Given the description of an element on the screen output the (x, y) to click on. 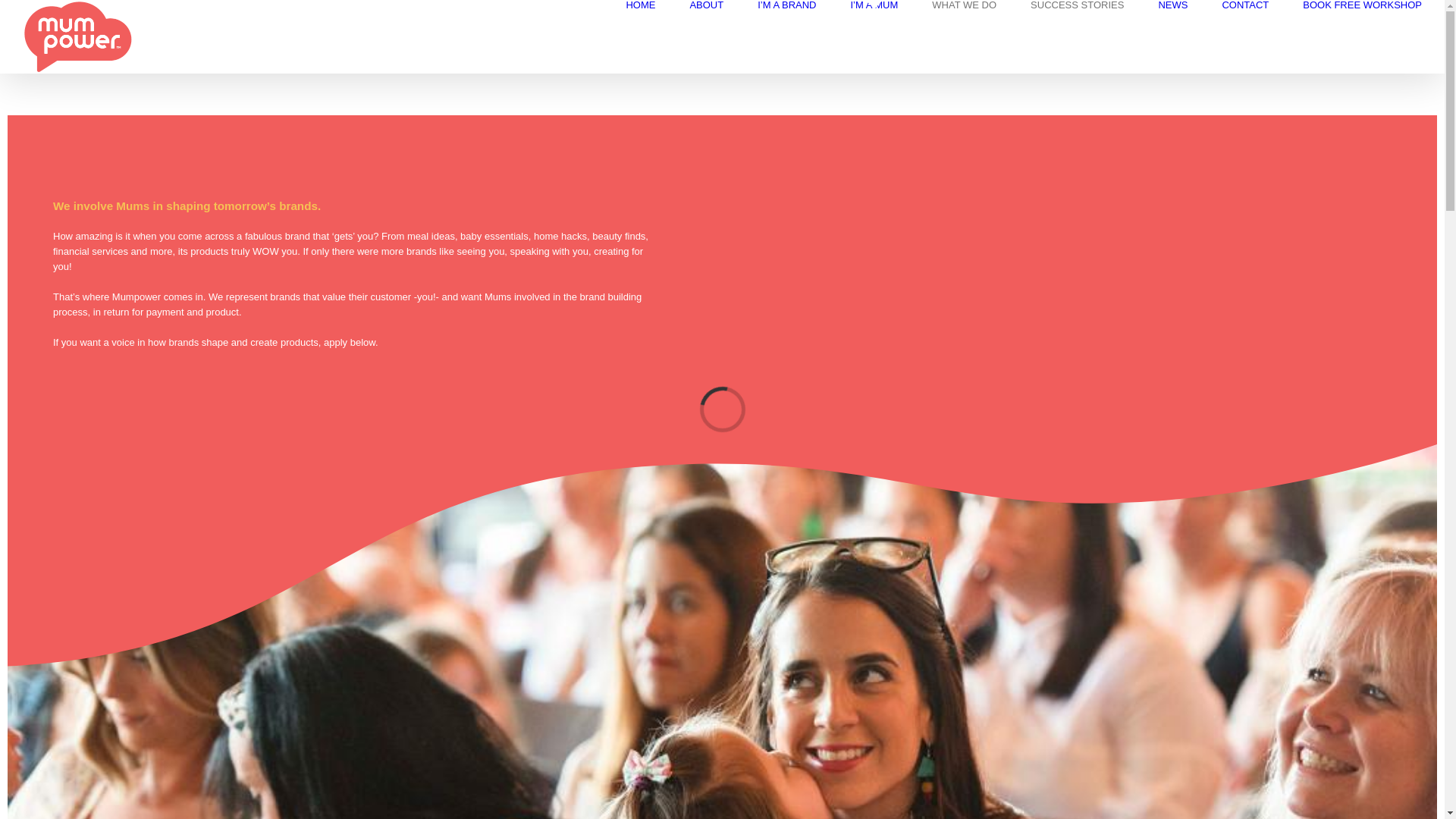
SUCCESS STORIES Element type: text (1076, 4)
NEWS Element type: text (1172, 4)
WHAT WE DO Element type: text (963, 4)
BOOK FREE WORKSHOP Element type: text (1361, 4)
ABOUT Element type: text (706, 4)
CONTACT Element type: text (1244, 4)
HOME Element type: text (640, 4)
